Given the description of an element on the screen output the (x, y) to click on. 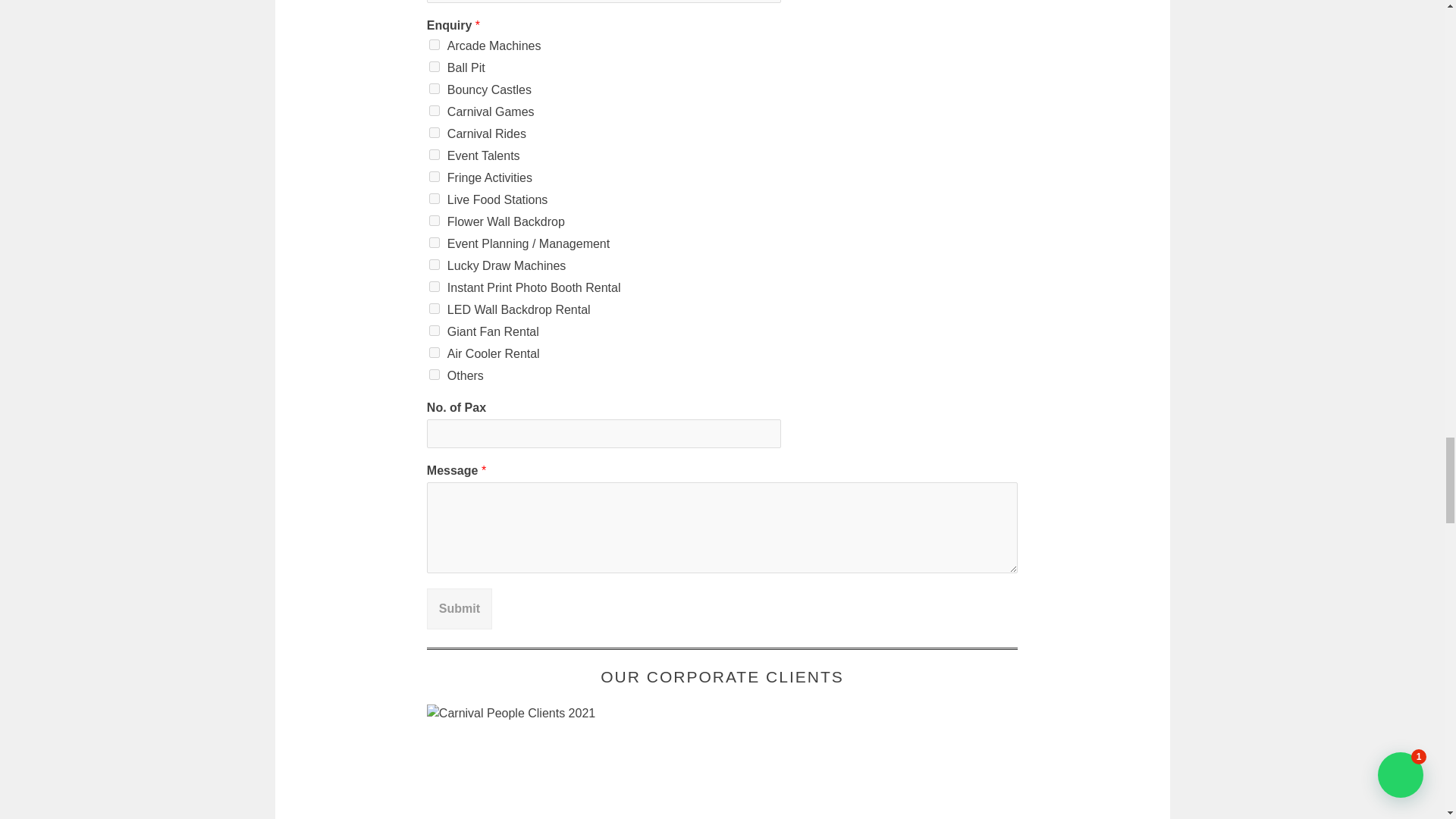
LED Wall Backdrop Rental (434, 308)
Instant Print Photo Booth Rental (434, 286)
Carnival Games (434, 110)
Flower Wall Backdrop (434, 220)
Others (434, 374)
Giant Fan Rental (434, 330)
Lucky Draw Machines (434, 264)
Air Cooler Rental (434, 352)
Event Talents (434, 154)
Fringe Activities (434, 176)
Ball Pit (434, 66)
Arcade Machines (434, 44)
Carnival Rides (434, 132)
Bouncy Castles (434, 88)
Live Food Stations (434, 198)
